Given the description of an element on the screen output the (x, y) to click on. 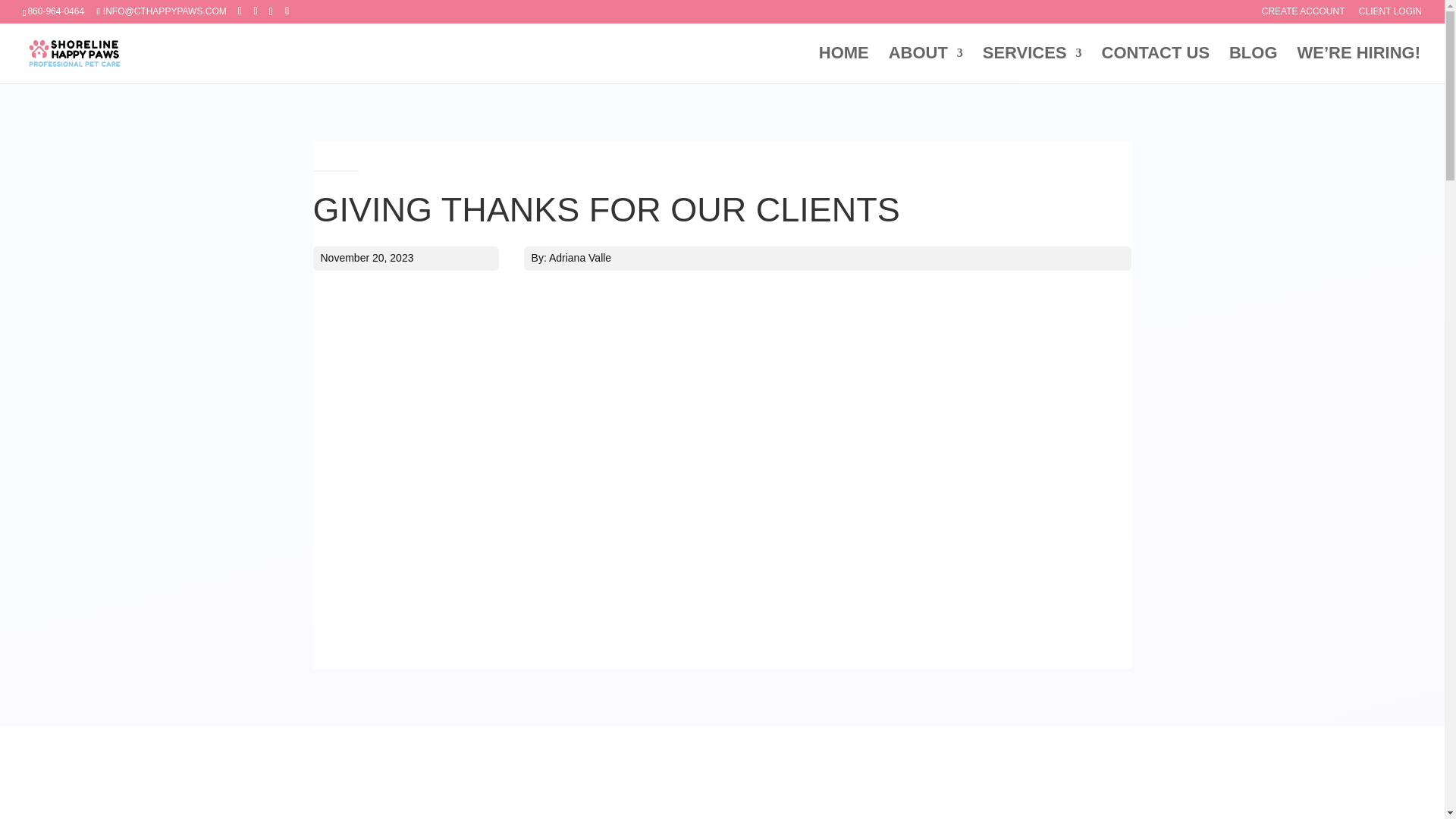
HOME (843, 65)
ABOUT (925, 65)
CONTACT US (1154, 65)
BLOG (1253, 65)
860-964-0464 (55, 10)
CLIENT LOGIN (1390, 14)
CREATE ACCOUNT (1303, 14)
SERVICES (1031, 65)
